Given the description of an element on the screen output the (x, y) to click on. 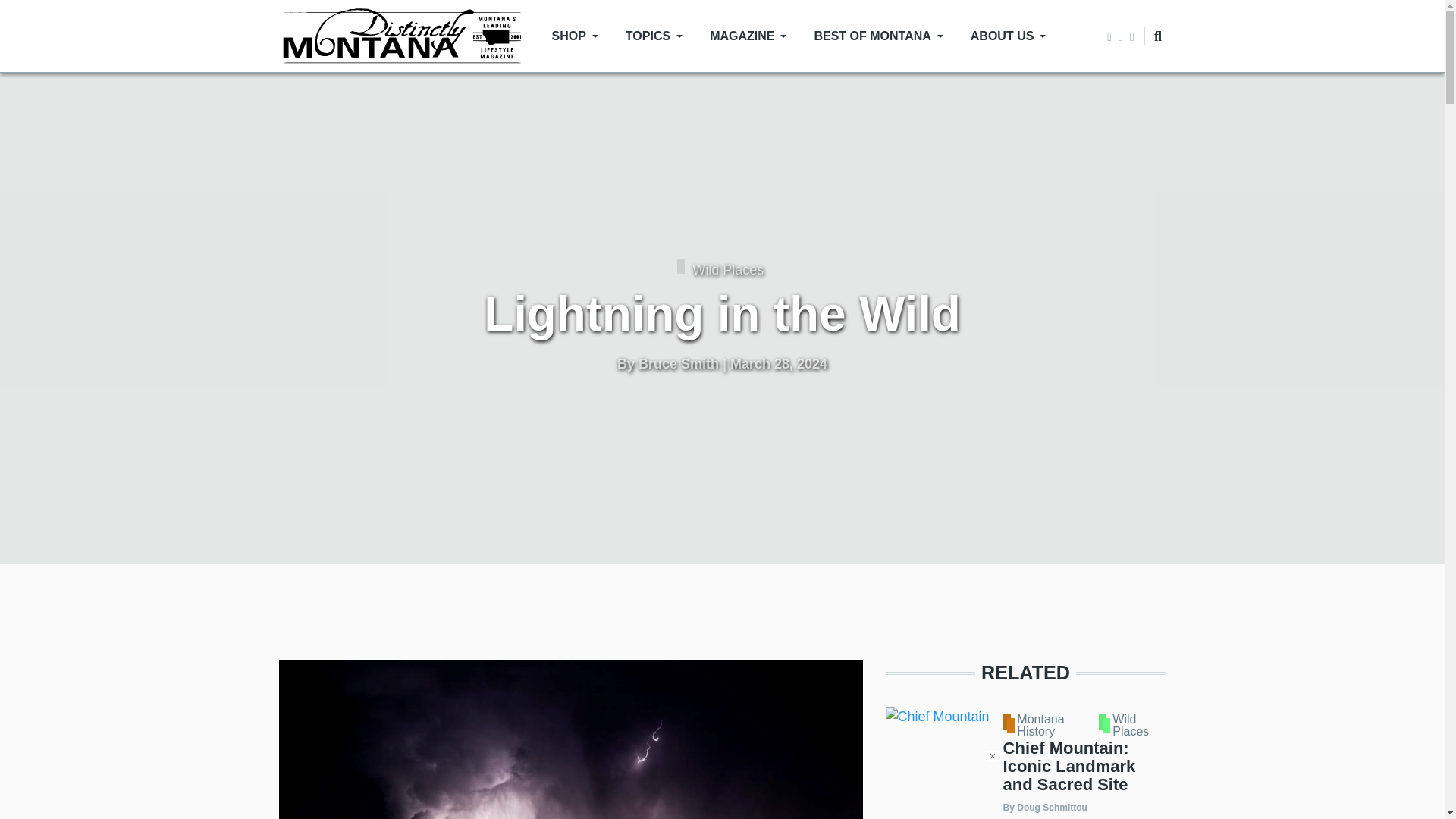
SHOP (574, 36)
MAGAZINE (747, 36)
ABOUT US (1007, 36)
TOPICS (653, 36)
BEST OF MONTANA (877, 36)
Go (1144, 93)
